Given the description of an element on the screen output the (x, y) to click on. 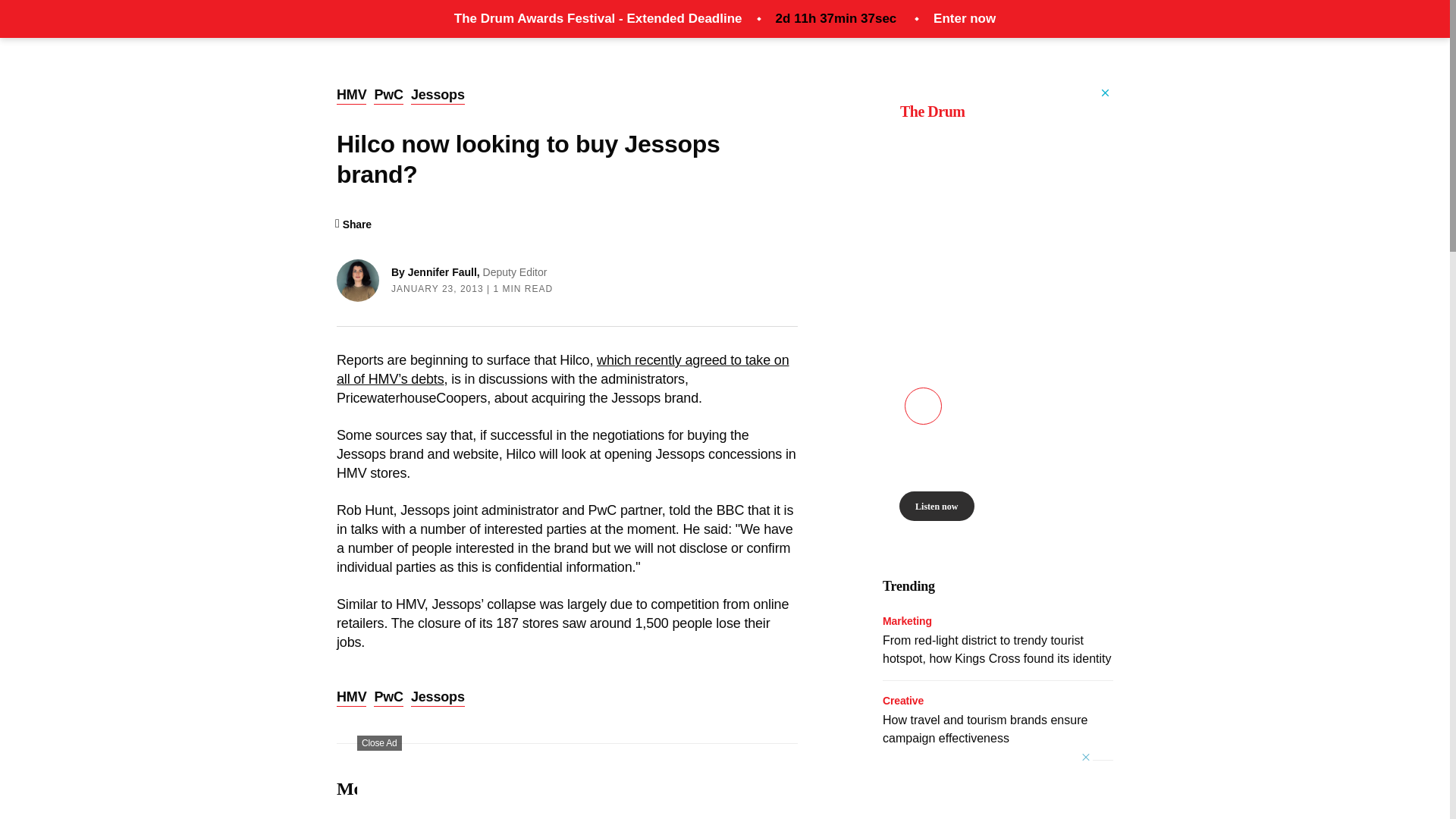
Jennifer Faull, (445, 272)
Jessops (437, 697)
Share (353, 224)
PwC (388, 697)
Jessops (437, 95)
Enter now (964, 18)
HMV (351, 95)
3rd party ad content (724, 785)
PwC (388, 95)
View all (773, 789)
HMV (351, 697)
